Given the description of an element on the screen output the (x, y) to click on. 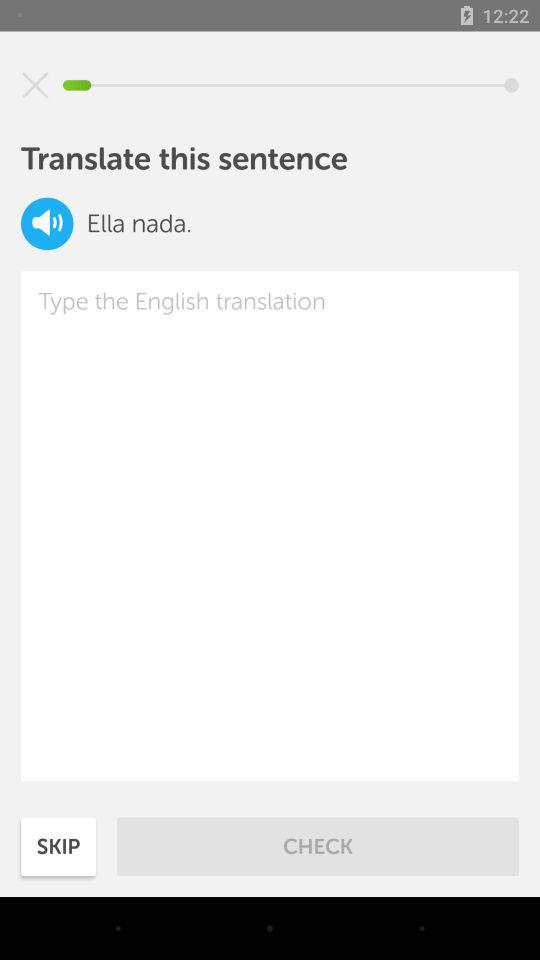
turn off the check item (318, 846)
